Given the description of an element on the screen output the (x, y) to click on. 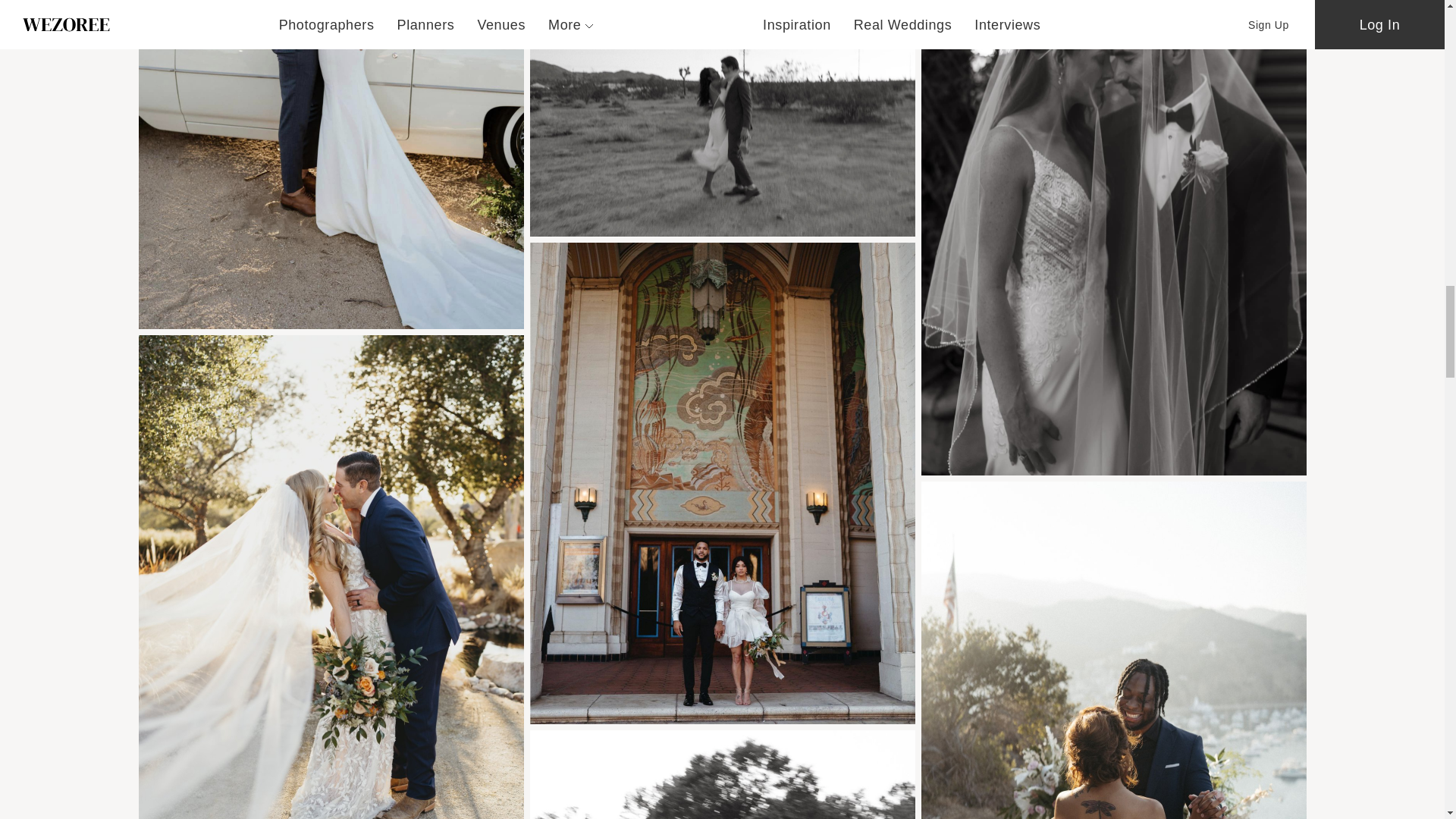
undefined (330, 164)
undefined (721, 774)
undefined (721, 118)
